Given the description of an element on the screen output the (x, y) to click on. 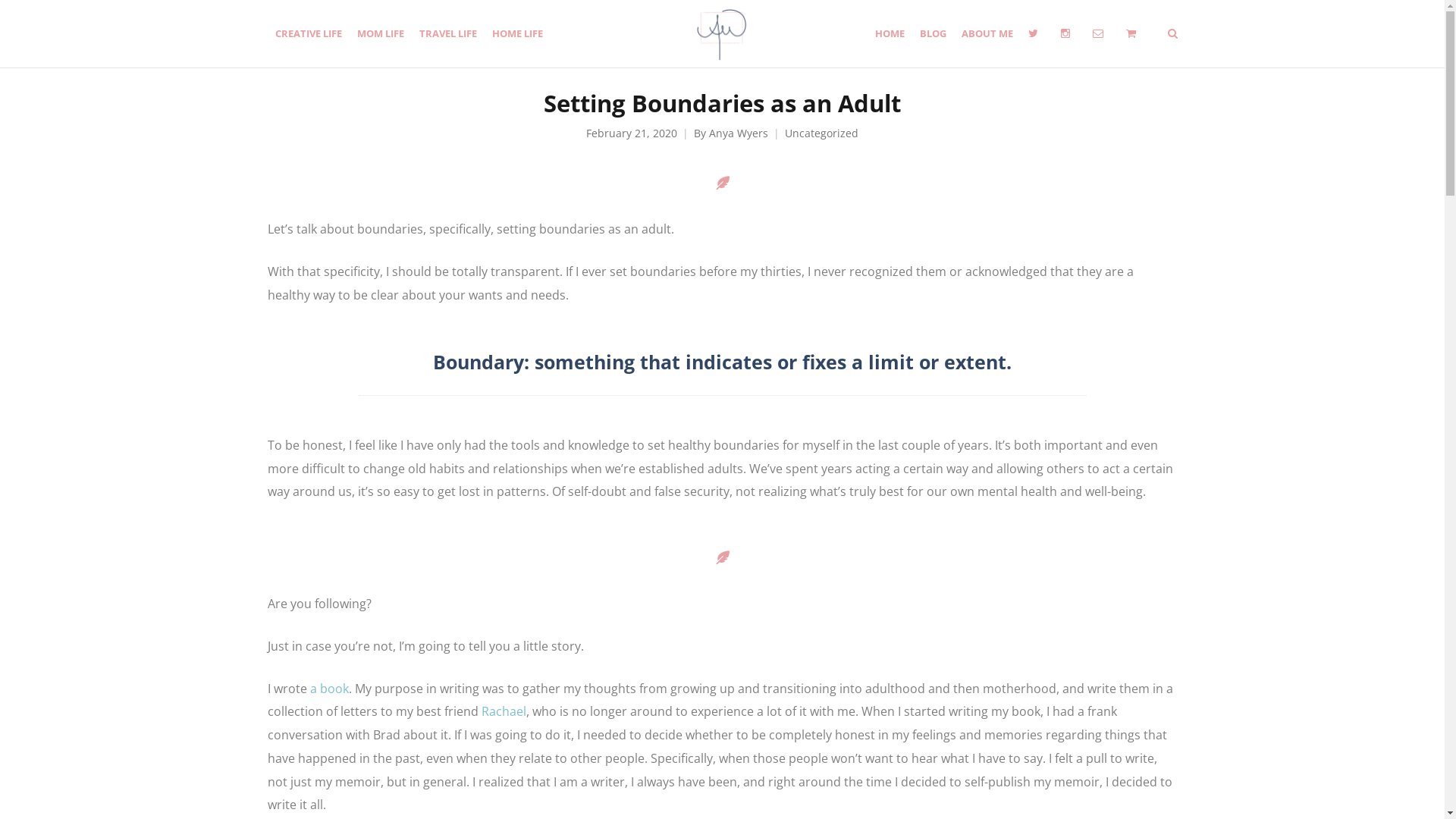
Rachael Element type: text (502, 710)
Anya Wyers Element type: text (738, 132)
Uncategorized Element type: text (821, 132)
a book Element type: text (328, 688)
